Given the description of an element on the screen output the (x, y) to click on. 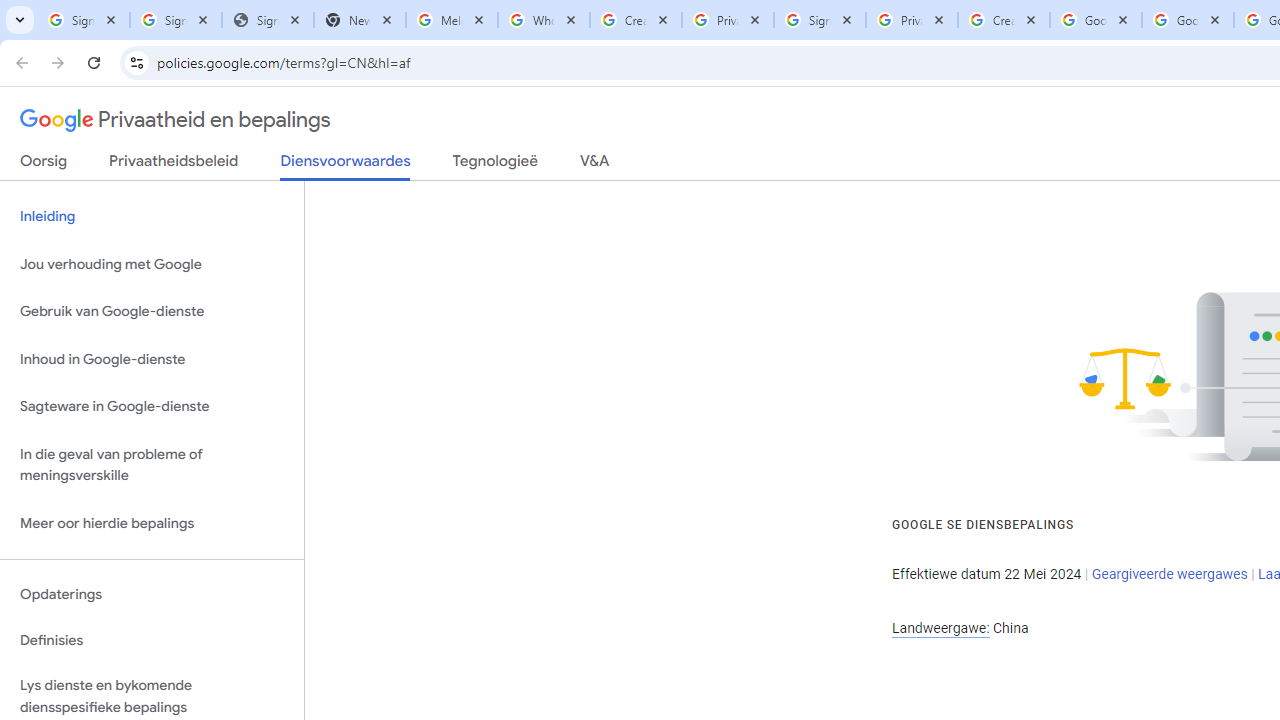
Create your Google Account (1003, 20)
In die geval van probleme of meningsverskille (152, 464)
Meer oor hierdie bepalings (152, 522)
Gebruik van Google-dienste (152, 312)
Definisies (152, 640)
Privaatheid en bepalings (175, 120)
Landweergawe: (940, 628)
